Given the description of an element on the screen output the (x, y) to click on. 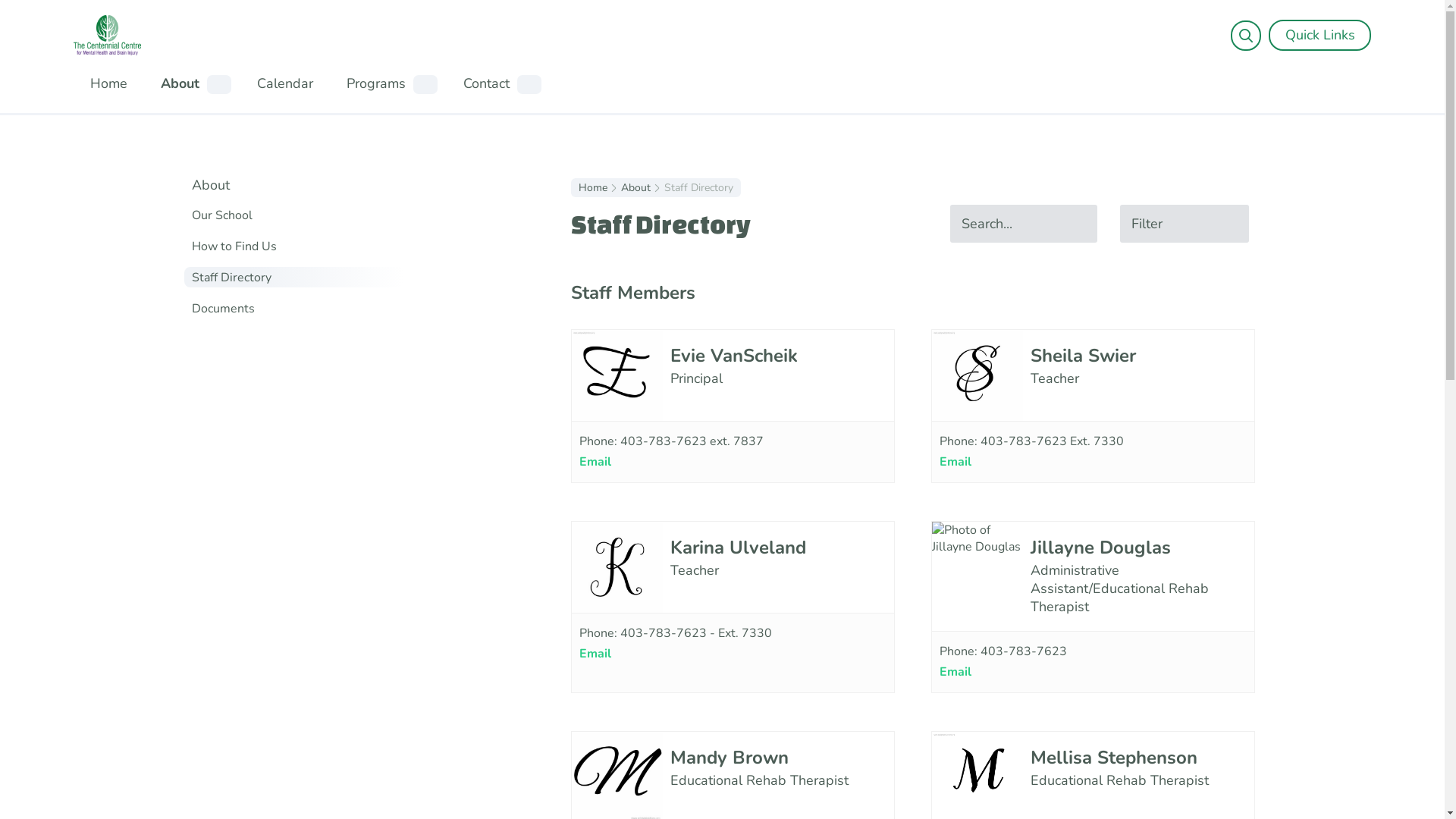
Email Element type: text (595, 653)
home Element type: hover (106, 35)
How to Find Us Element type: text (297, 246)
Documents Element type: text (297, 308)
Contact Element type: text (485, 83)
Programs Element type: text (375, 83)
Our School Element type: text (297, 215)
Home Element type: text (107, 83)
About Element type: text (180, 83)
Email Element type: text (954, 461)
Email Element type: text (954, 671)
Calendar Element type: text (284, 83)
Quick Links Element type: text (1319, 34)
Staff Directory Element type: text (297, 277)
Email Element type: text (595, 461)
About Element type: text (323, 184)
About Element type: text (634, 187)
Home Element type: text (591, 187)
